Given the description of an element on the screen output the (x, y) to click on. 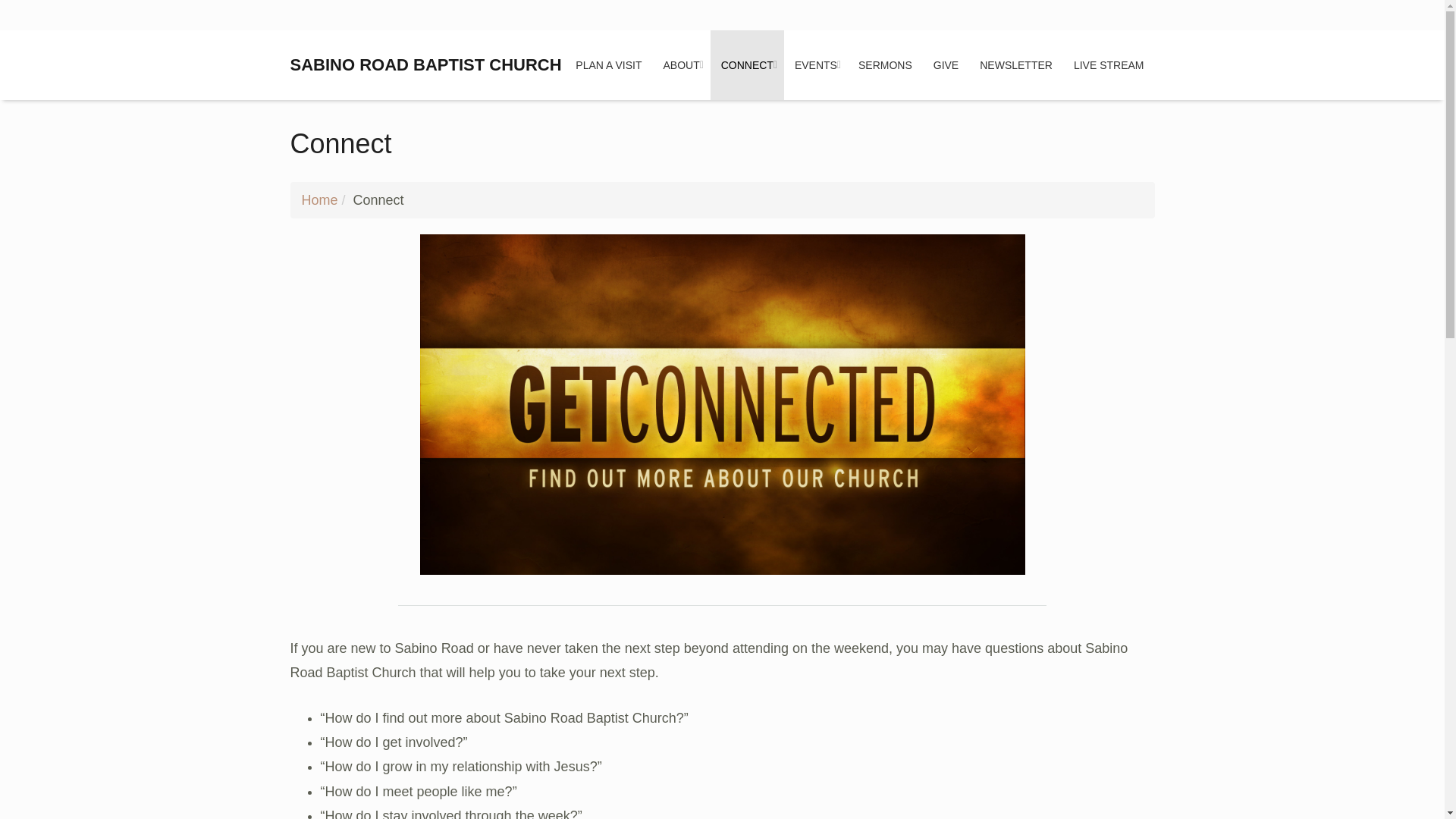
CONNECT (747, 64)
PLAN A VISIT (608, 64)
SABINO ROAD BAPTIST CHURCH (424, 64)
